Given the description of an element on the screen output the (x, y) to click on. 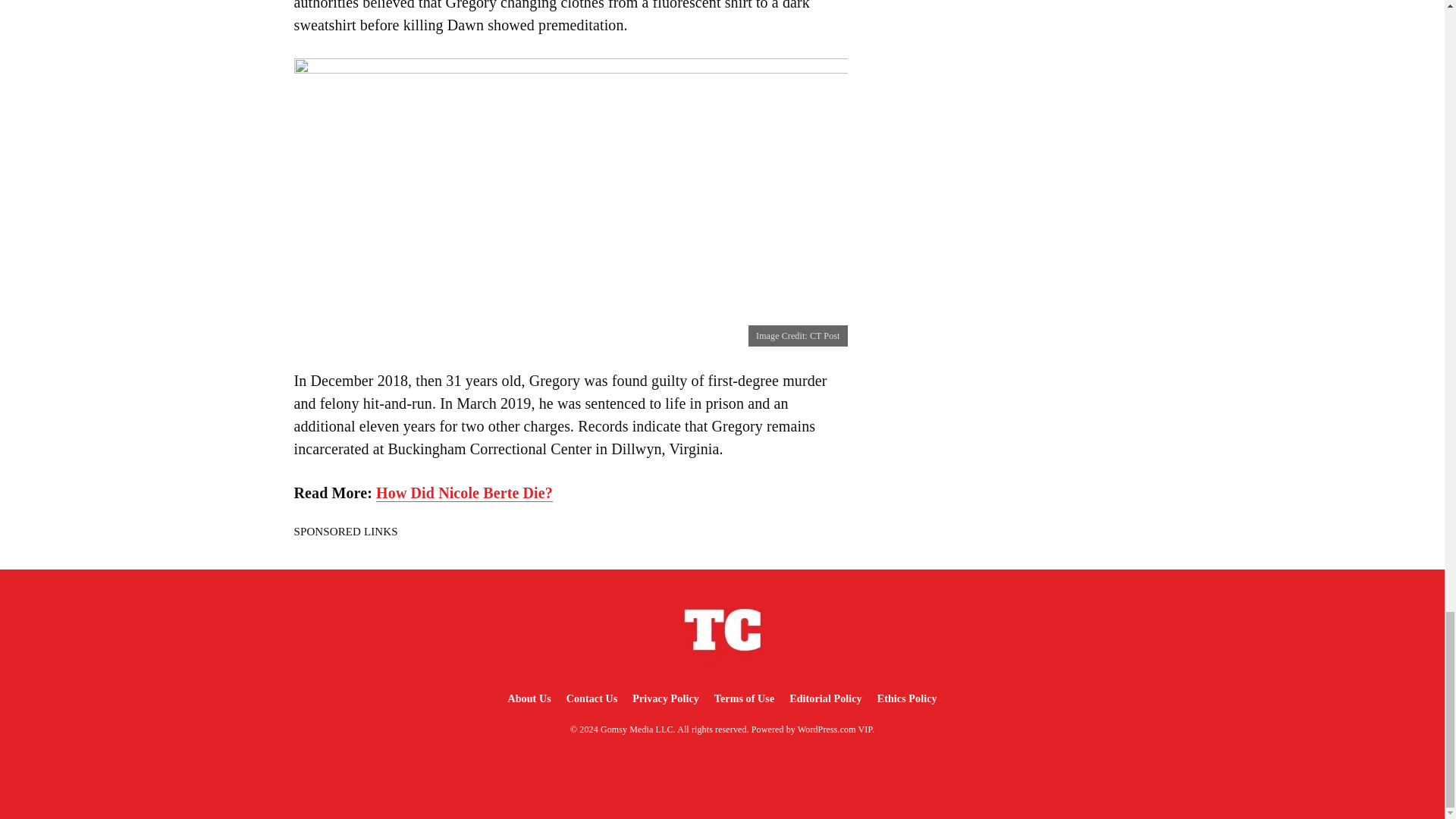
WordPress.com VIP (834, 728)
Ethics Policy (906, 698)
Terms of Use (743, 698)
Editorial Policy (825, 698)
How Did Nicole Berte Die? (464, 493)
Contact Us (592, 698)
Privacy Policy (665, 698)
About Us (528, 698)
